Given the description of an element on the screen output the (x, y) to click on. 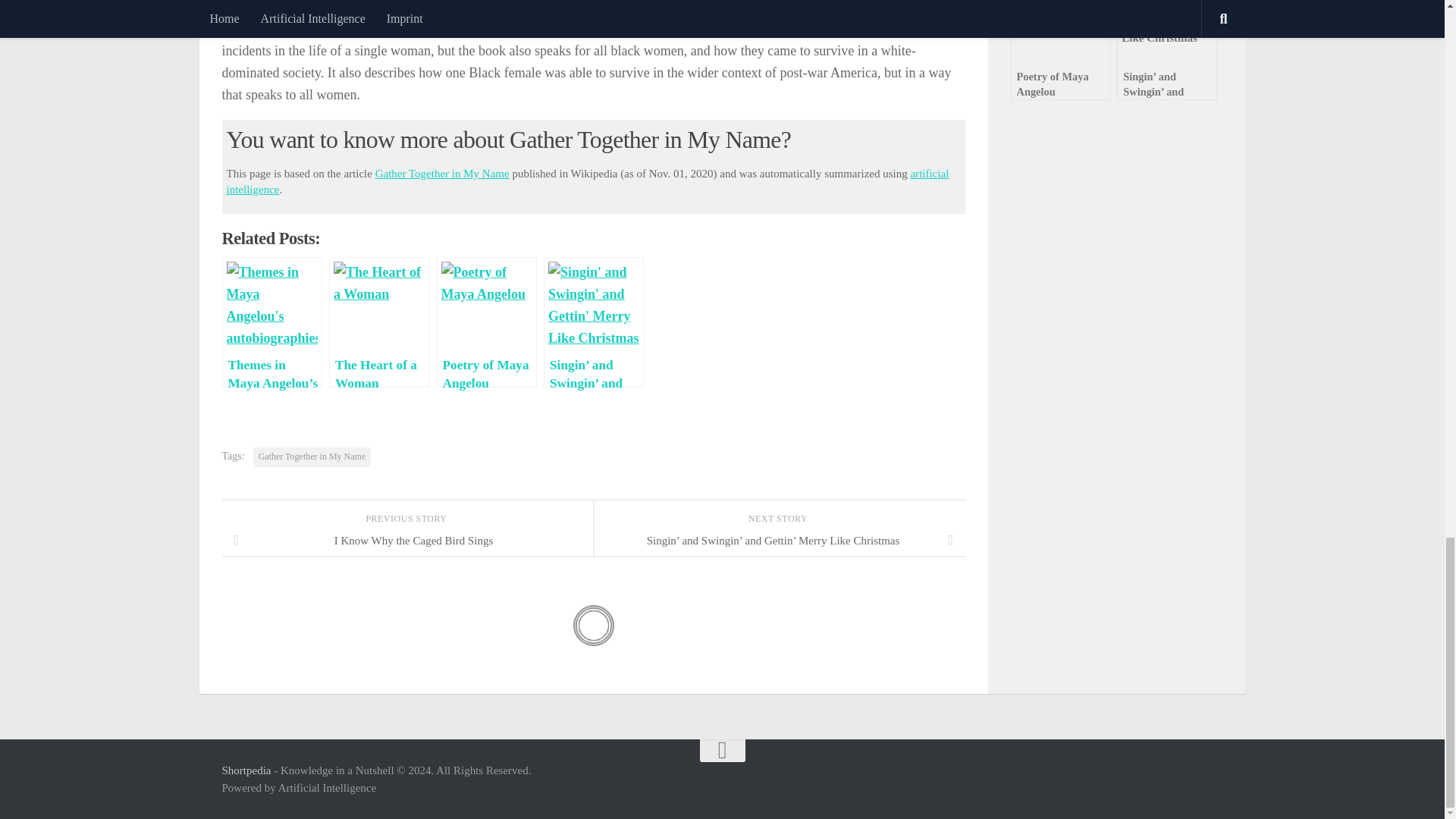
Gather Together in My Name (312, 456)
Gather Together in My Name (442, 173)
I Know Why the Caged Bird Sings (406, 540)
artificial intelligence (587, 181)
